Given the description of an element on the screen output the (x, y) to click on. 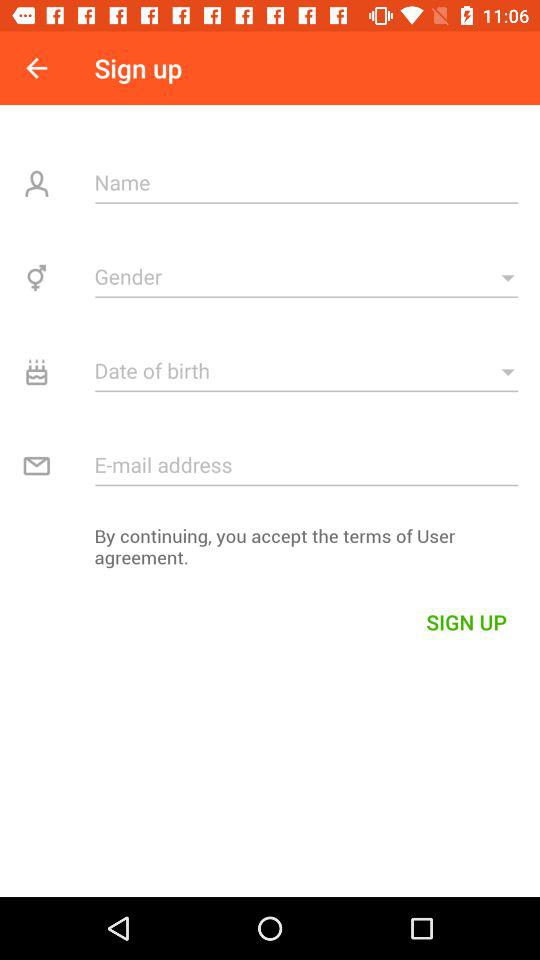
turn on by continuing you (270, 551)
